Given the description of an element on the screen output the (x, y) to click on. 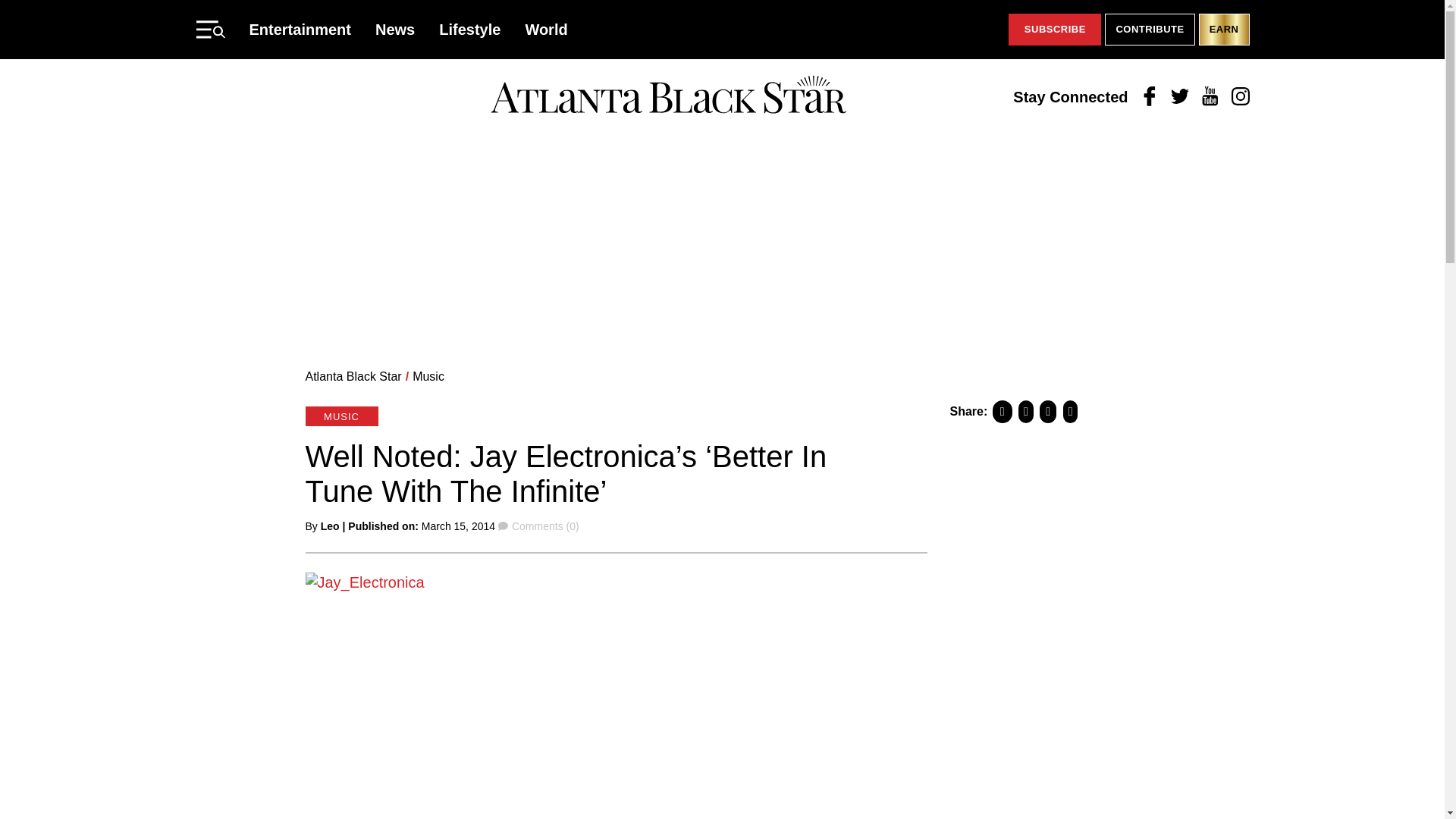
News (394, 29)
Atlanta Black Star (352, 376)
World (545, 29)
Lifestyle (469, 29)
Go to Atlanta Black Star. (352, 376)
Atlanta Black Star (667, 96)
EARN (1223, 29)
Go to the Music Category archives. (428, 376)
Music (428, 376)
CONTRIBUTE (1149, 29)
Entertainment (299, 29)
SUBSCRIBE (1054, 29)
